Given the description of an element on the screen output the (x, y) to click on. 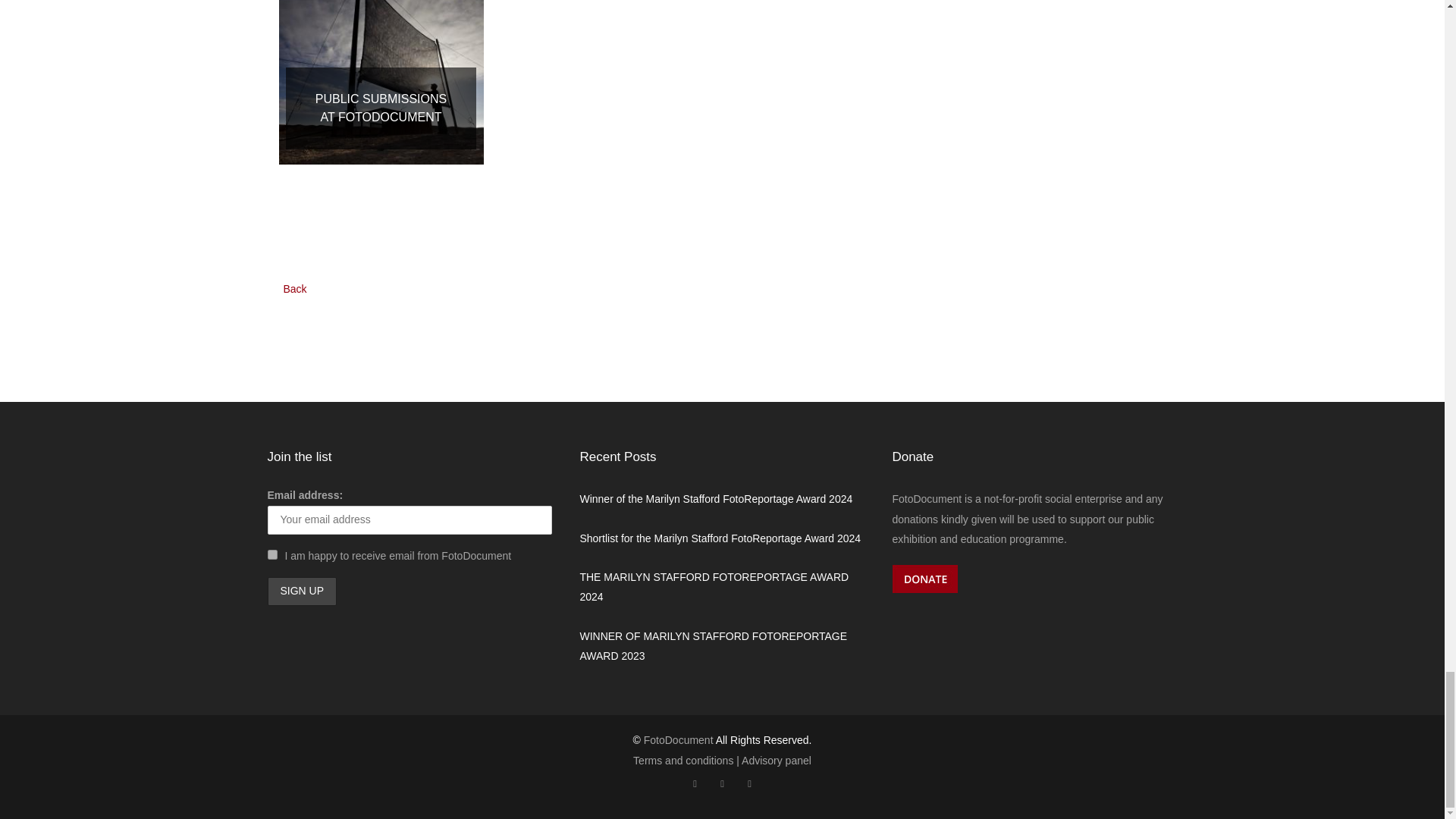
1 (271, 554)
Sign up (301, 591)
Back (295, 288)
Instagram (748, 783)
Twitter (721, 783)
Facebook (694, 783)
